Given the description of an element on the screen output the (x, y) to click on. 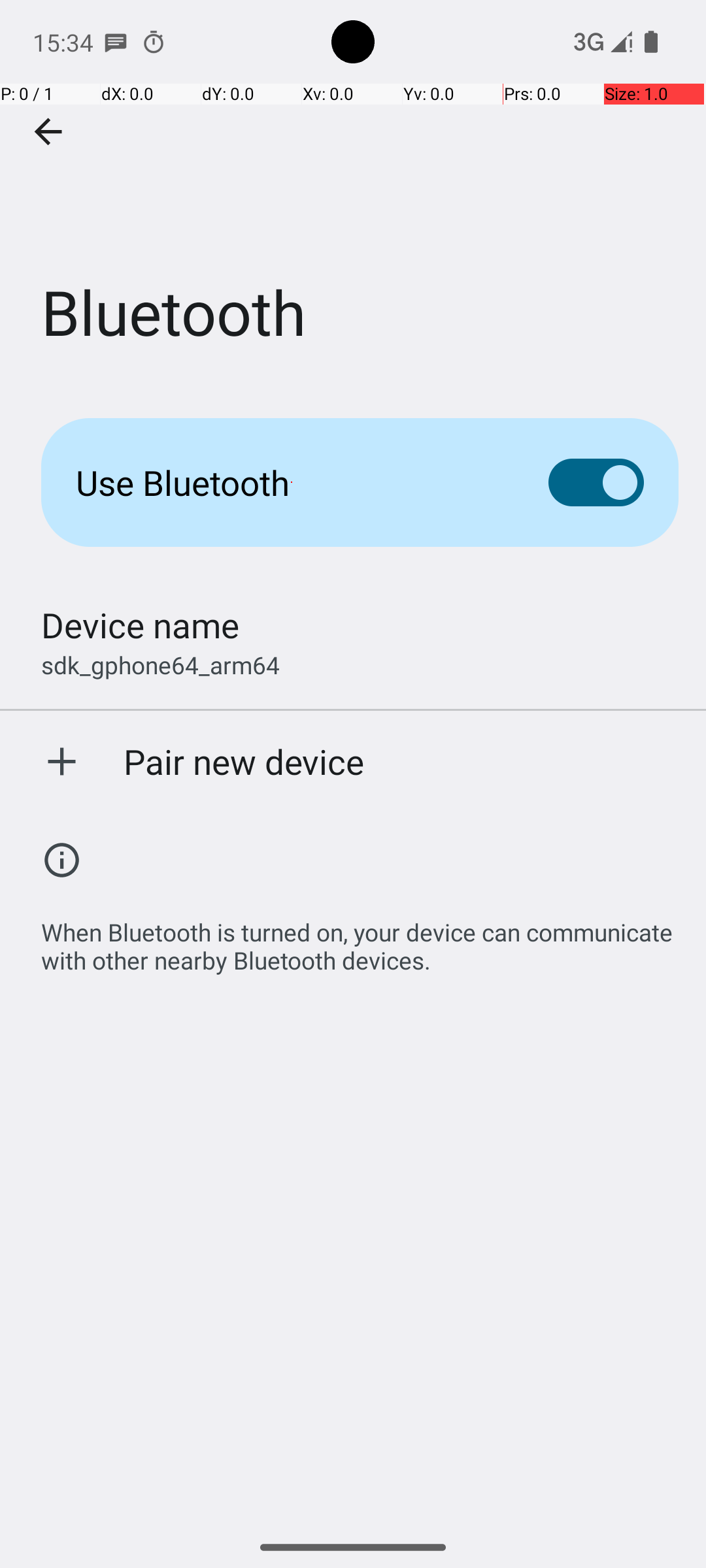
Bluetooth Element type: android.widget.FrameLayout (353, 195)
Use Bluetooth Element type: android.widget.TextView (291, 482)
When Bluetooth is turned on, your device can communicate with other nearby Bluetooth devices. Element type: android.widget.TextView (359, 921)
